Given the description of an element on the screen output the (x, y) to click on. 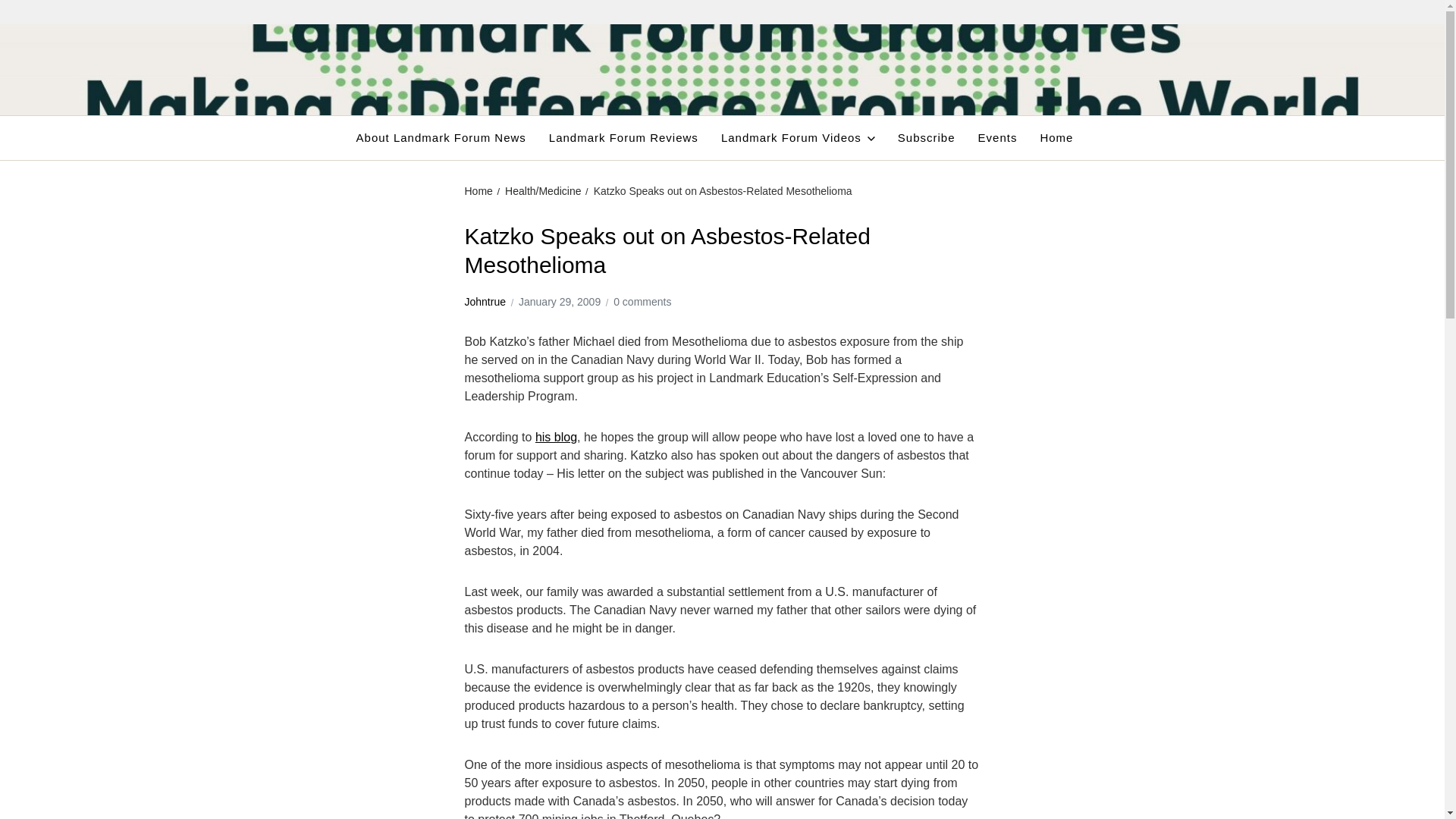
his blog (555, 436)
0 comments (641, 302)
Johntrue (484, 302)
Landmark Forum Reviews (623, 137)
Subscribe (926, 137)
Home (478, 191)
Bob Katzko - Mesothelioma blog (555, 436)
Events (997, 137)
Landmark Forum Videos (797, 137)
About Landmark Forum News (440, 137)
